Given the description of an element on the screen output the (x, y) to click on. 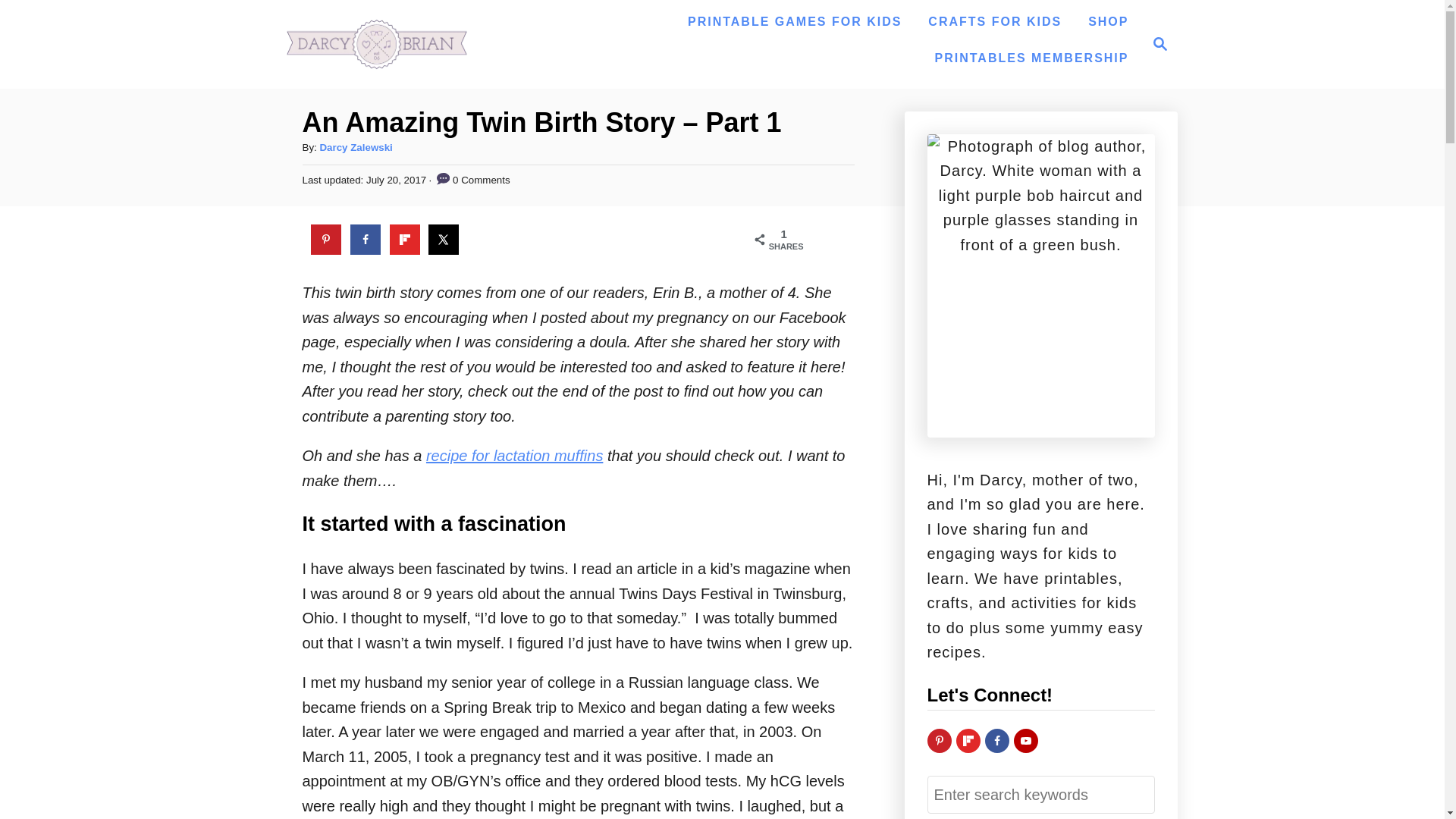
Share on Facebook (1155, 43)
recipe for lactation muffins (365, 239)
CRAFTS FOR KIDS (514, 455)
Follow on Pinterest (994, 21)
Share on Flipboard (938, 740)
Share on X (405, 239)
Follow on Flipboard (443, 239)
Darcy Zalewski (967, 740)
Magnifying Glass (354, 147)
